Given the description of an element on the screen output the (x, y) to click on. 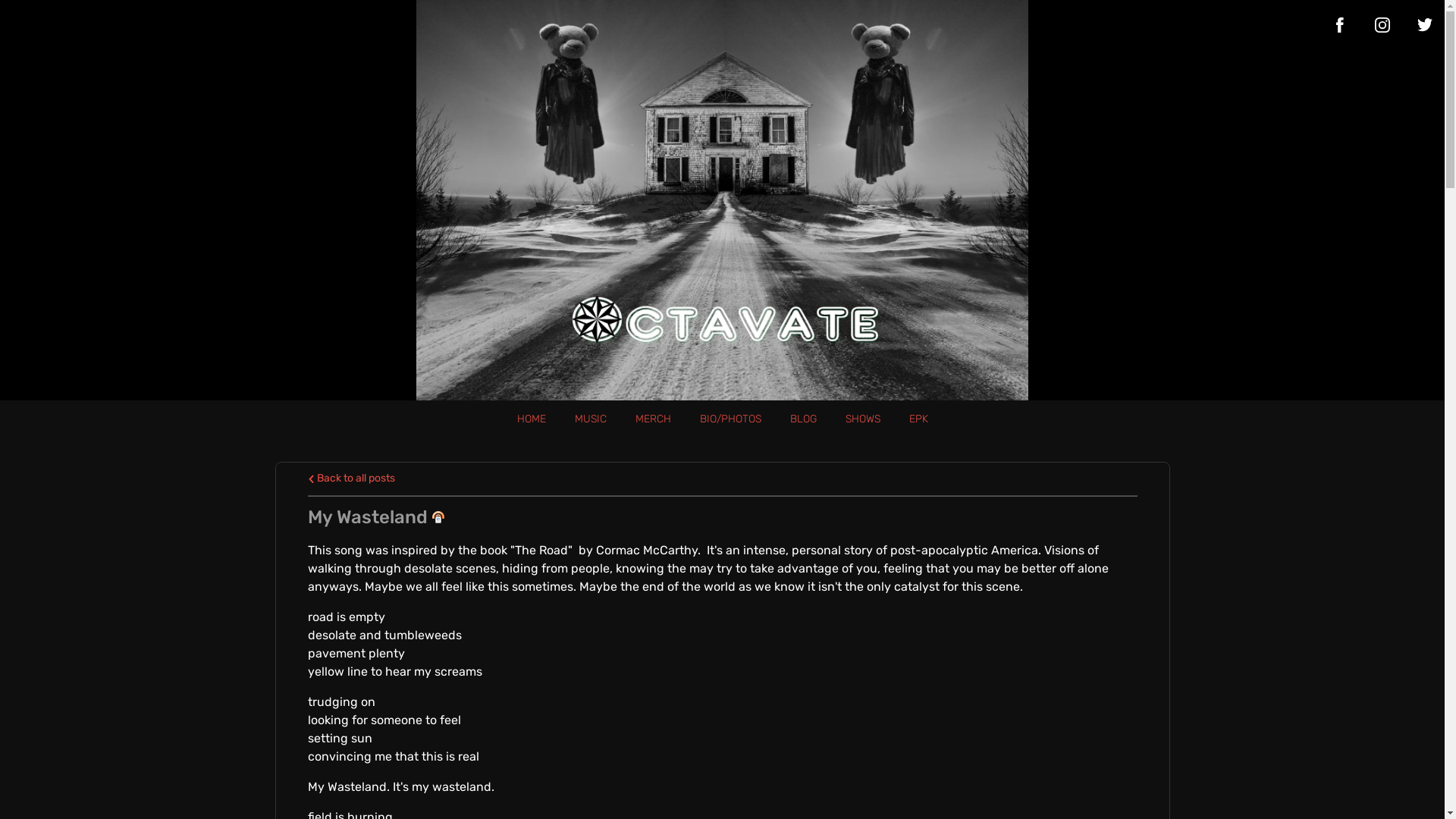
HOME Element type: text (531, 418)
BIO/PHOTOS Element type: text (729, 418)
BLOG Element type: text (803, 418)
https://instagram.com/octavate.band Element type: hover (1382, 24)
SHOWS Element type: text (862, 418)
Back to all posts Element type: text (351, 477)
https://twitter.com/OctavateBand Element type: hover (1424, 24)
MUSIC Element type: text (590, 418)
https://www.facebook.com/octavate.band Element type: hover (1339, 24)
EPK Element type: text (917, 418)
MERCH Element type: text (652, 418)
